Given the description of an element on the screen output the (x, y) to click on. 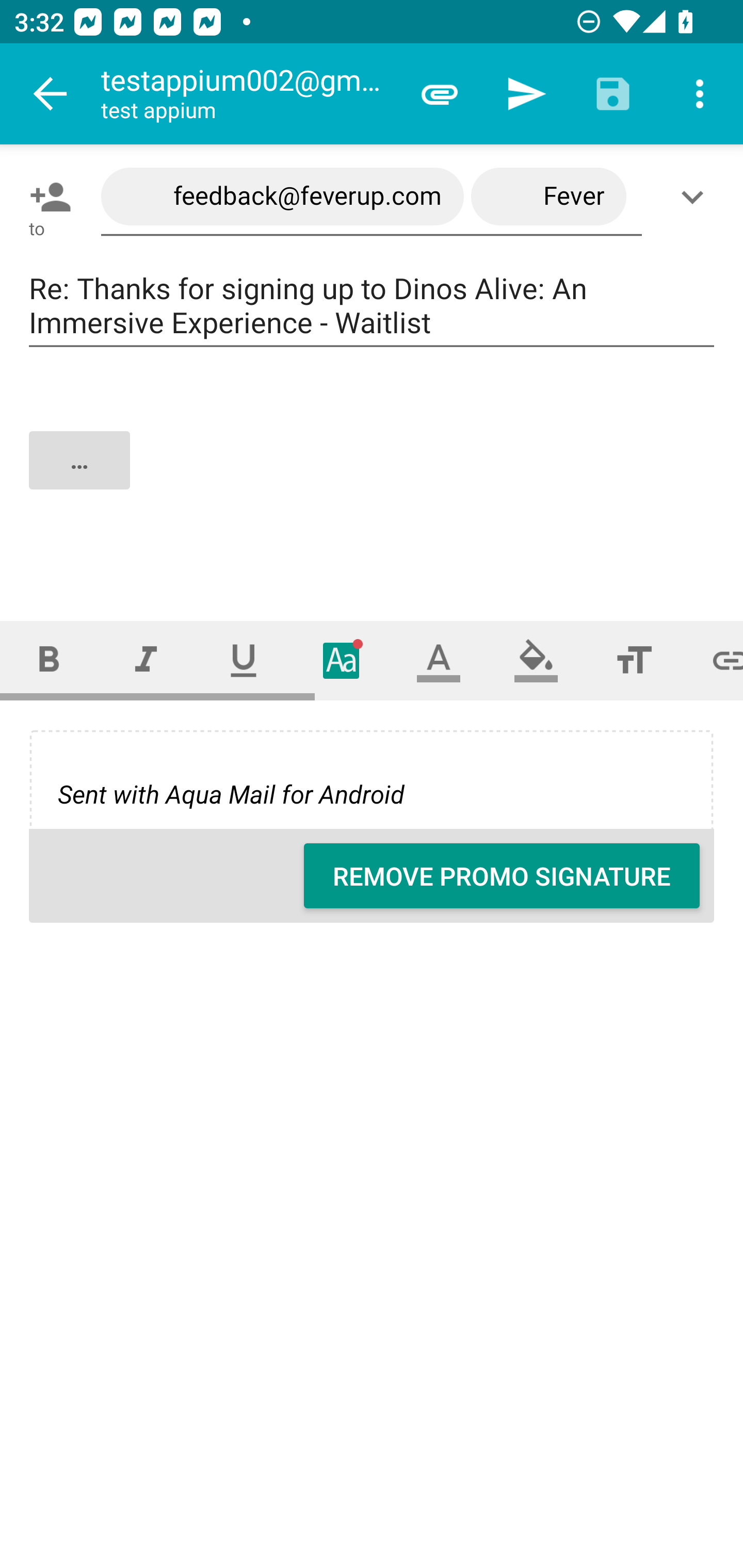
Navigate up (50, 93)
testappium002@gmail.com test appium (248, 93)
Attach (439, 93)
Send (525, 93)
Save (612, 93)
More options (699, 93)
feedback@feverup.com, Fever <hello@feverup.com>,  (371, 197)
Pick contact: To (46, 196)
Show/Add CC/BCC (696, 196)

…
 (372, 477)
Bold (48, 660)
Italic (145, 660)
Underline (243, 660)
Typeface (font) (341, 660)
Text color (438, 660)
Fill color (536, 660)
Font size (633, 660)
REMOVE PROMO SIGNATURE (501, 875)
